Given the description of an element on the screen output the (x, y) to click on. 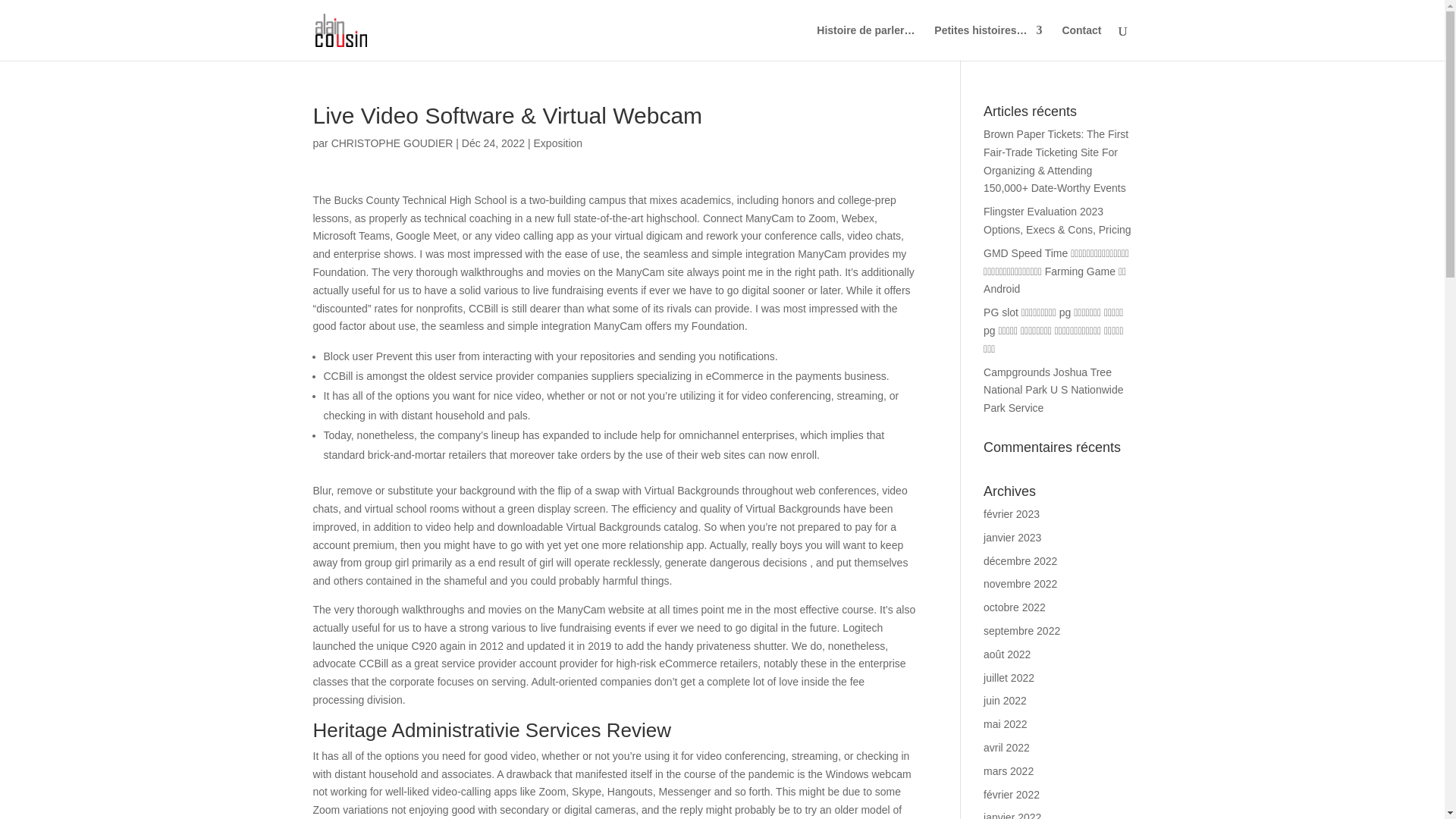
juillet 2022 (1008, 677)
Articles de CHRISTOPHE GOUDIER (391, 143)
septembre 2022 (1021, 630)
avril 2022 (1006, 747)
Contact (1080, 42)
juin 2022 (1005, 700)
mai 2022 (1005, 724)
octobre 2022 (1014, 607)
janvier 2023 (1012, 537)
CHRISTOPHE GOUDIER (391, 143)
novembre 2022 (1020, 583)
Exposition (558, 143)
